Given the description of an element on the screen output the (x, y) to click on. 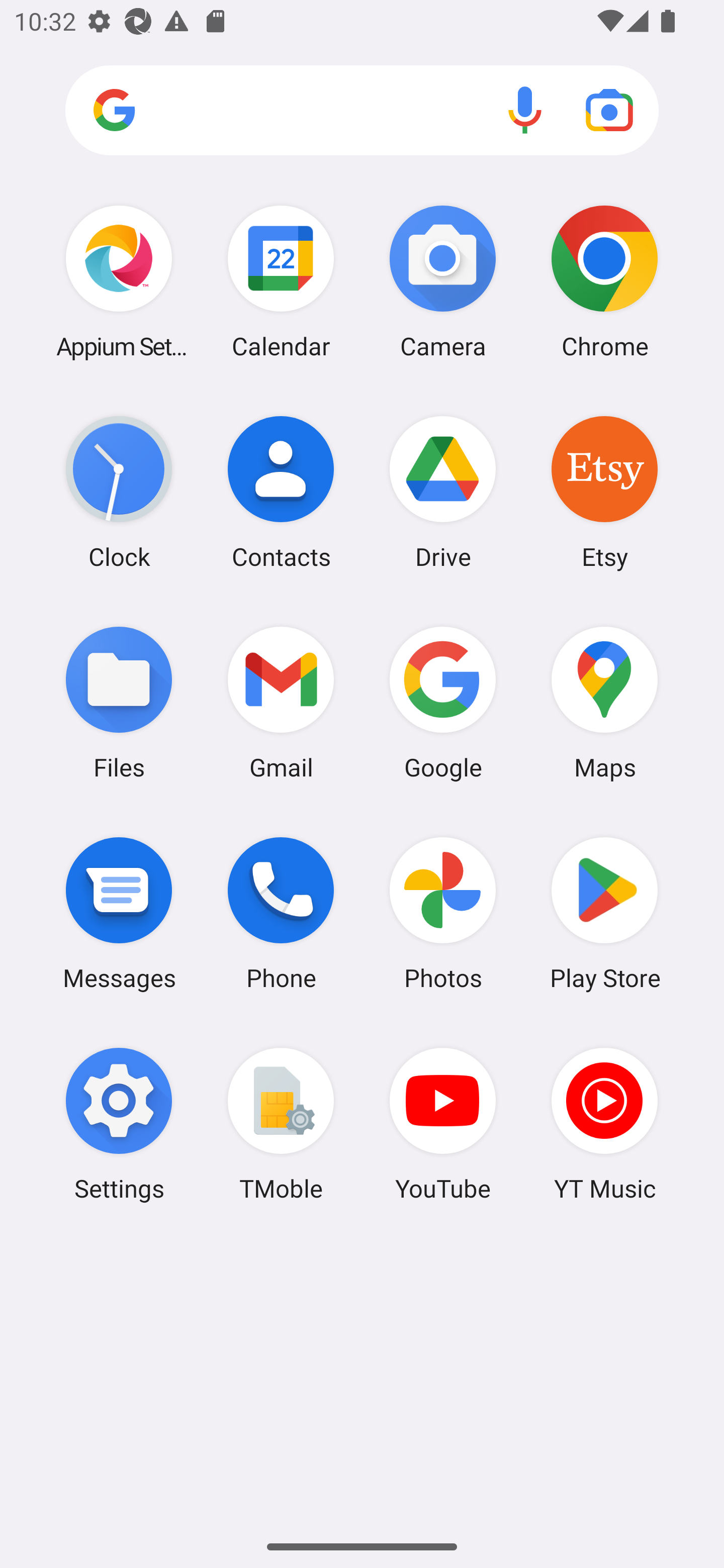
Search apps, web and more (361, 110)
Voice search (524, 109)
Google Lens (608, 109)
Appium Settings (118, 281)
Calendar (280, 281)
Camera (443, 281)
Chrome (604, 281)
Clock (118, 492)
Contacts (280, 492)
Drive (443, 492)
Etsy (604, 492)
Files (118, 702)
Gmail (280, 702)
Google (443, 702)
Maps (604, 702)
Messages (118, 913)
Phone (280, 913)
Photos (443, 913)
Play Store (604, 913)
Settings (118, 1124)
TMoble (280, 1124)
YouTube (443, 1124)
YT Music (604, 1124)
